Given the description of an element on the screen output the (x, y) to click on. 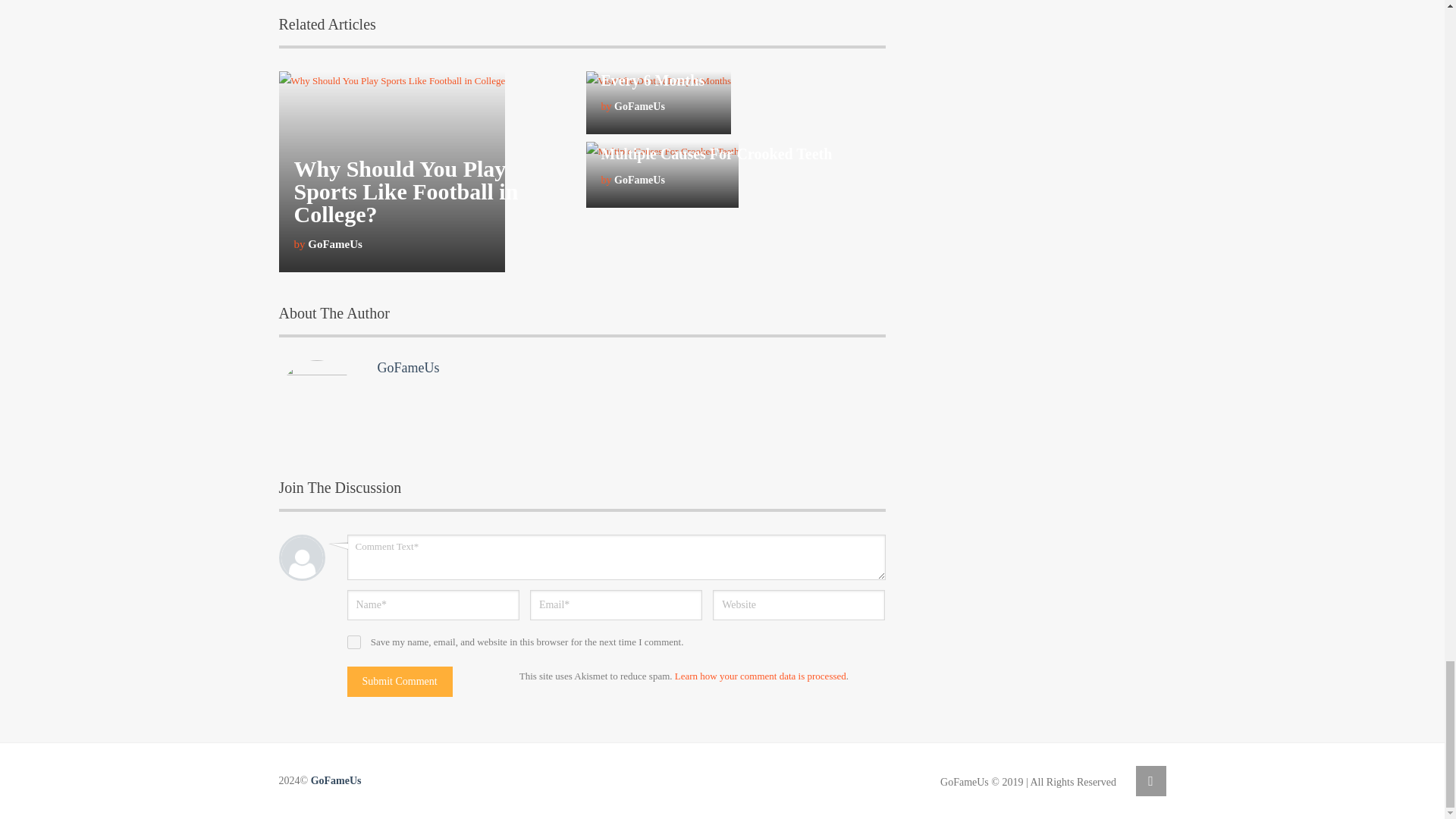
yes (354, 642)
GoFameUs (408, 367)
Why Should You Play Sports Like Football in College? (406, 191)
Learn how your comment data is processed (760, 675)
Why Should You Play Sports Like Football in College? (406, 191)
Multiple Causes For Crooked Teeth (715, 153)
Submit Comment (399, 681)
Submit Comment (399, 681)
